Given the description of an element on the screen output the (x, y) to click on. 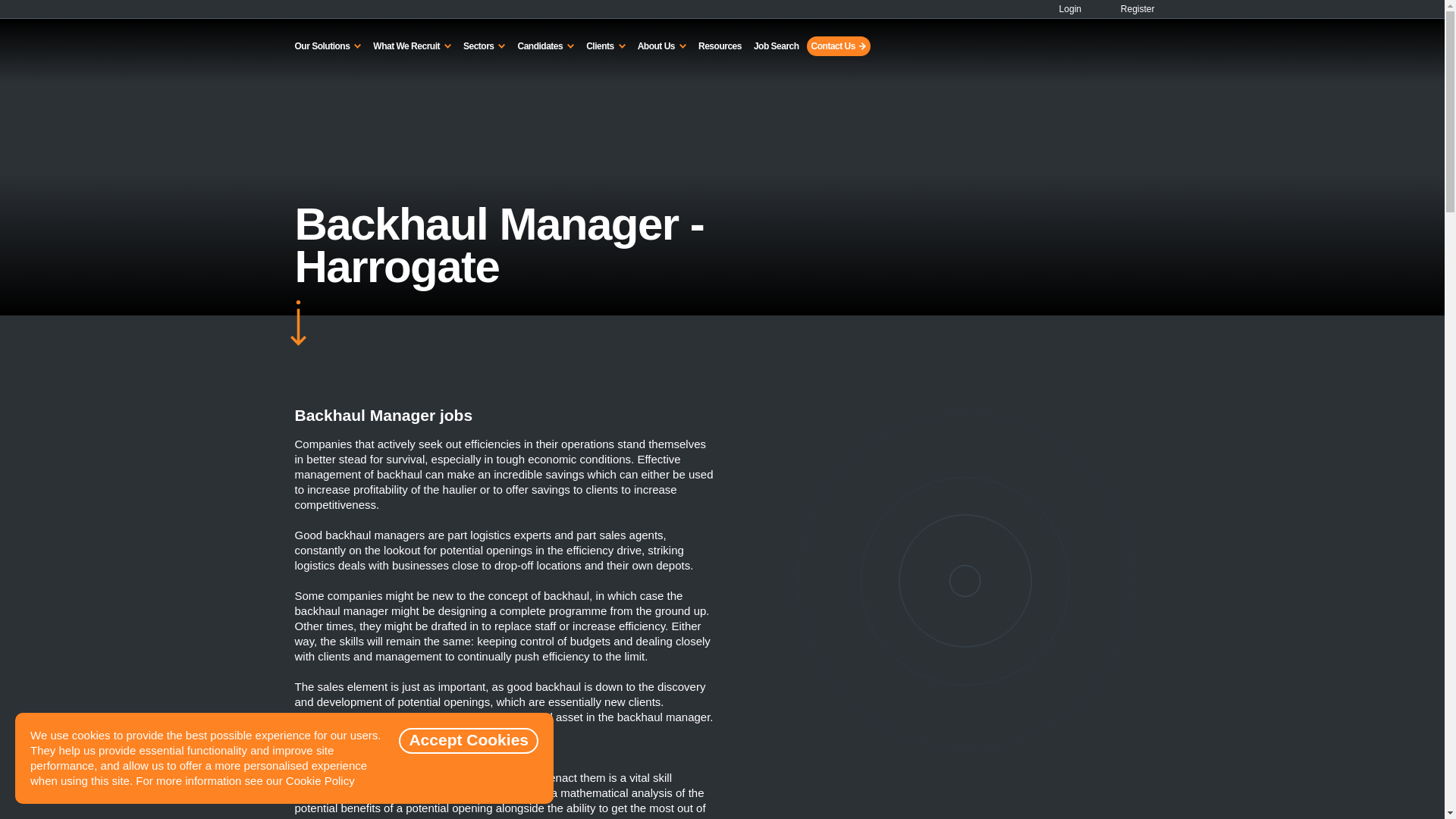
What We Recruit (411, 46)
Register (1128, 9)
Login (1063, 9)
Sectors (484, 46)
Our Solutions (327, 46)
